Given the description of an element on the screen output the (x, y) to click on. 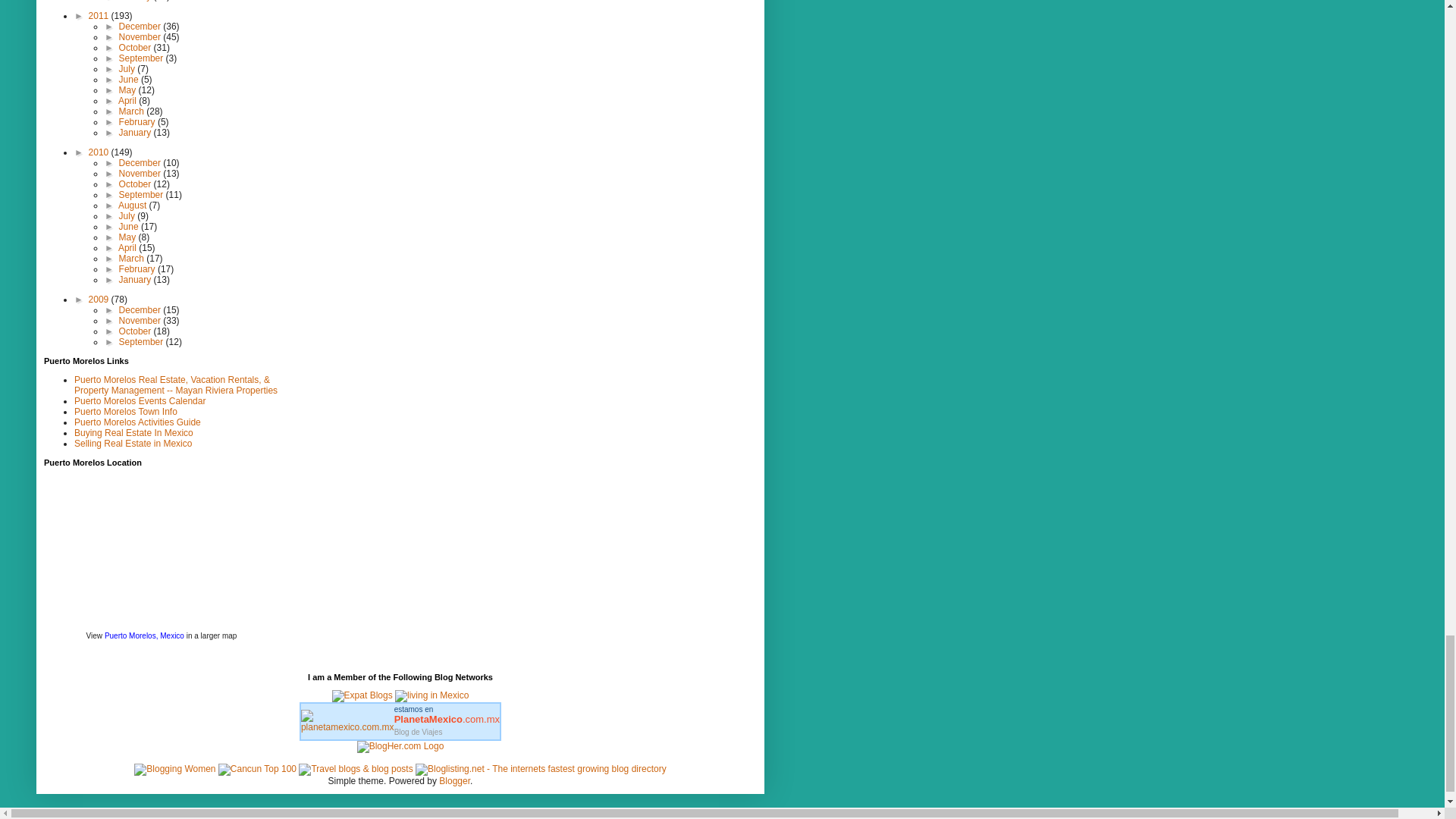
living in Mexico (431, 695)
Blog de Viajes (446, 714)
BlogHer.com (400, 746)
Blog de Viajes (418, 732)
